Given the description of an element on the screen output the (x, y) to click on. 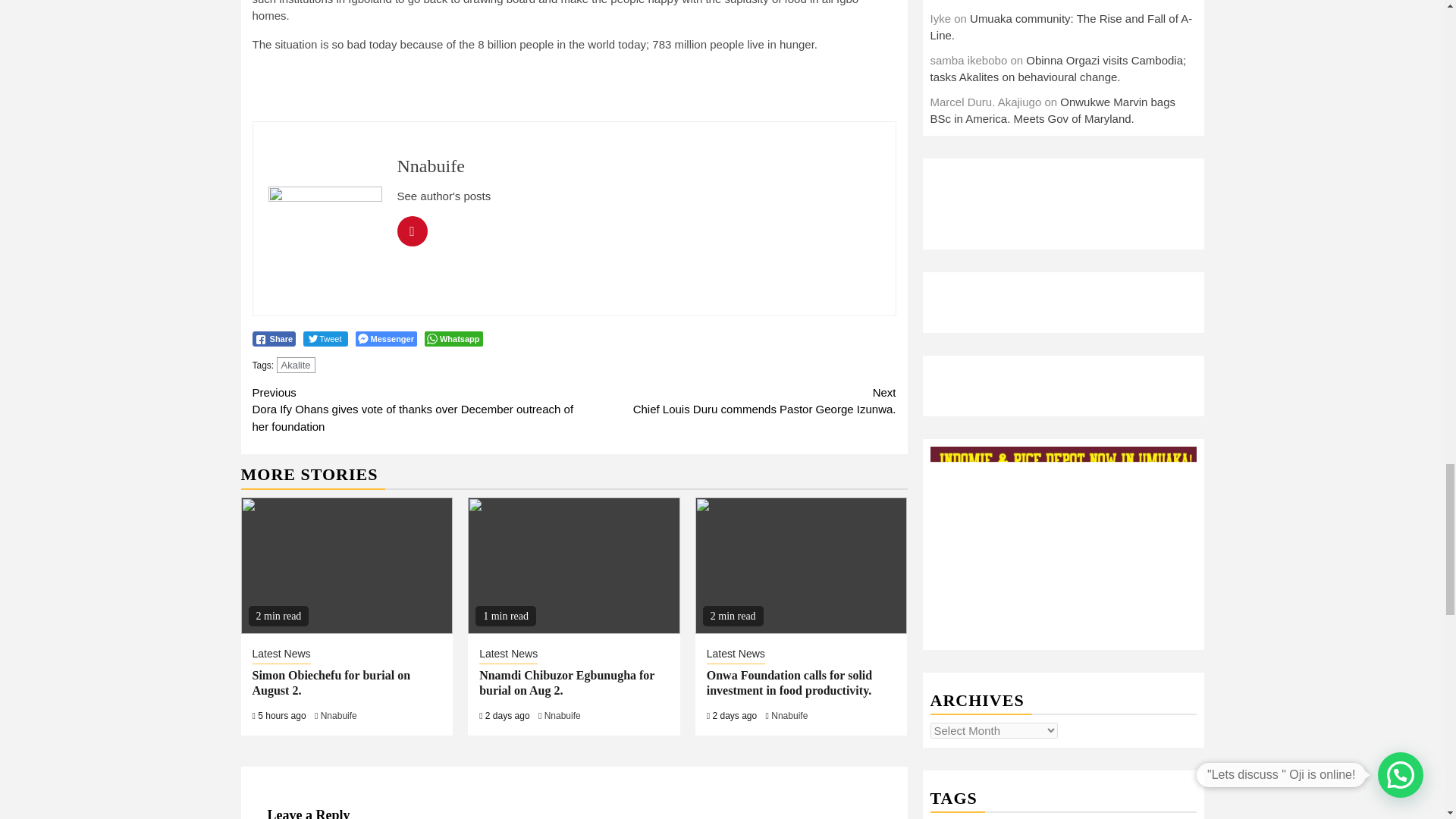
Latest News (280, 655)
See author's posts (444, 195)
Simon Obiechefu for burial on August 2. (330, 683)
Latest News (508, 655)
Latest News (735, 655)
Nnabuife (430, 166)
Akalite (295, 365)
Tweet (324, 338)
Whatsapp (454, 338)
Share (273, 338)
Nnabuife (734, 401)
Nnabuife (338, 715)
Messenger (562, 715)
